Given the description of an element on the screen output the (x, y) to click on. 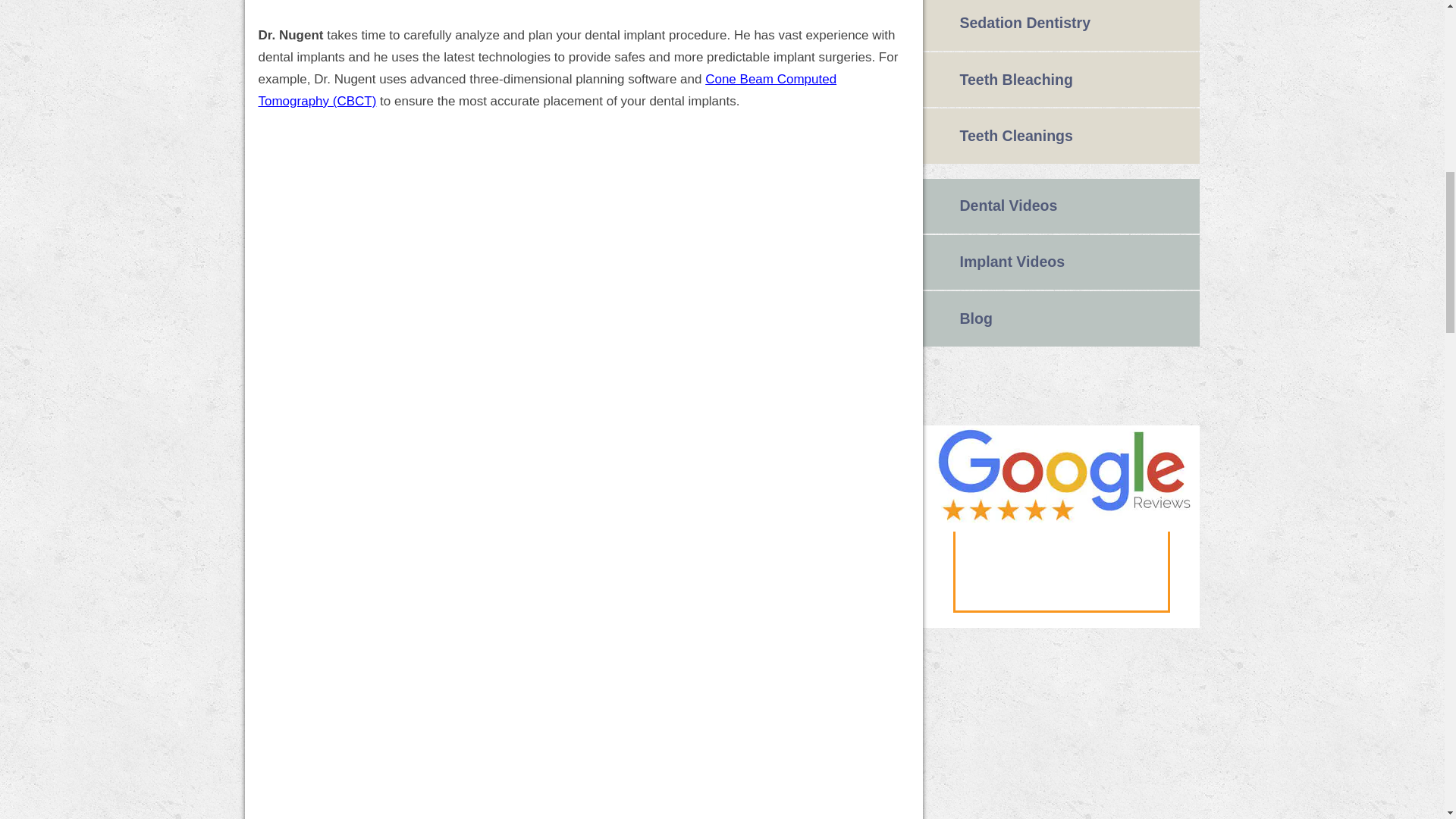
Teeth Bleaching (1061, 79)
Dental Videos (1061, 206)
Teeth Cleanings (1061, 135)
Sedation Dentistry (1061, 25)
Blog (1061, 318)
Implant Videos (1061, 262)
